Given the description of an element on the screen output the (x, y) to click on. 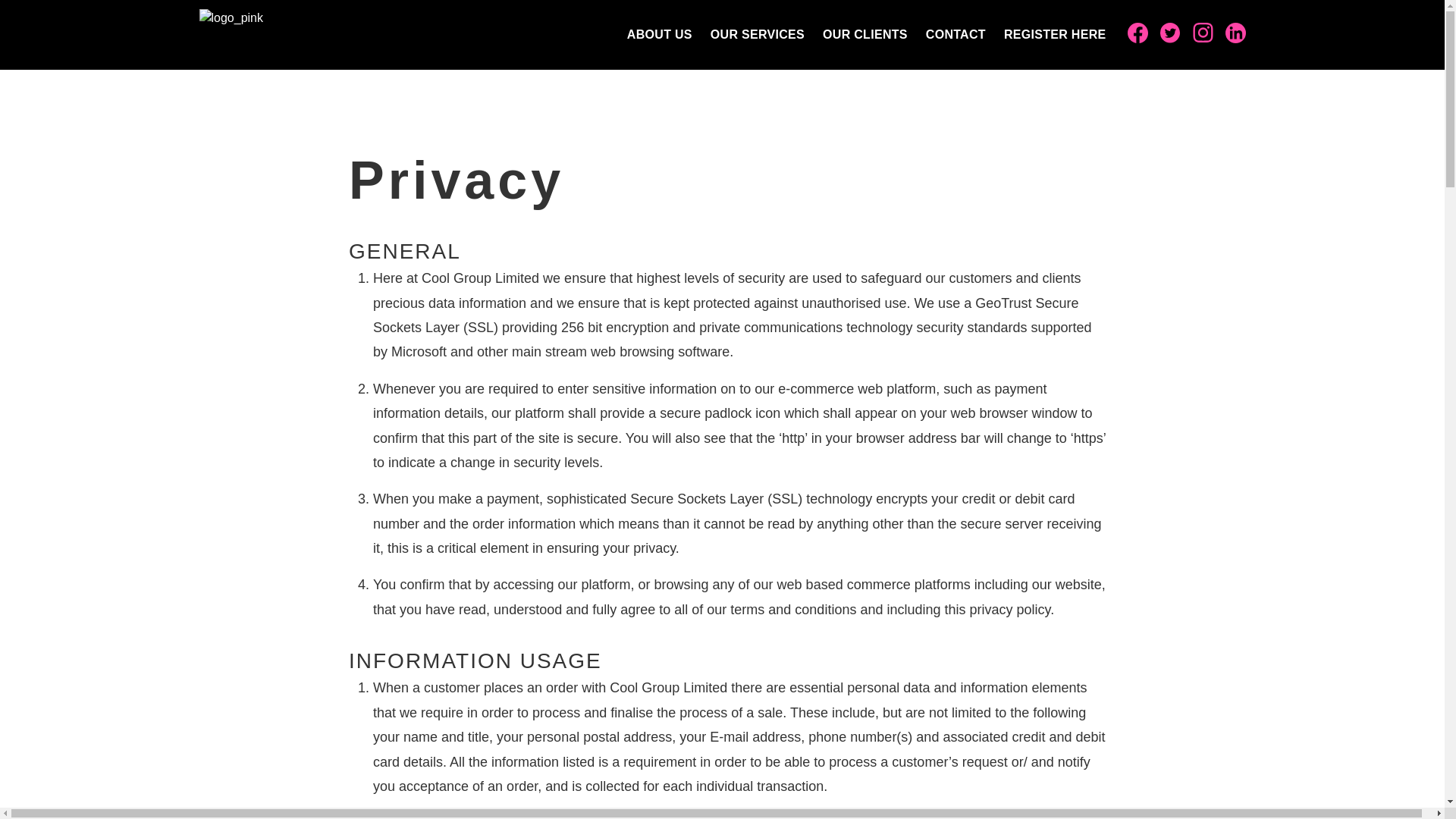
ABOUT US (659, 34)
CONTACT (955, 34)
OUR SERVICES (757, 34)
REGISTER HERE (1055, 34)
OUR CLIENTS (865, 34)
